Given the description of an element on the screen output the (x, y) to click on. 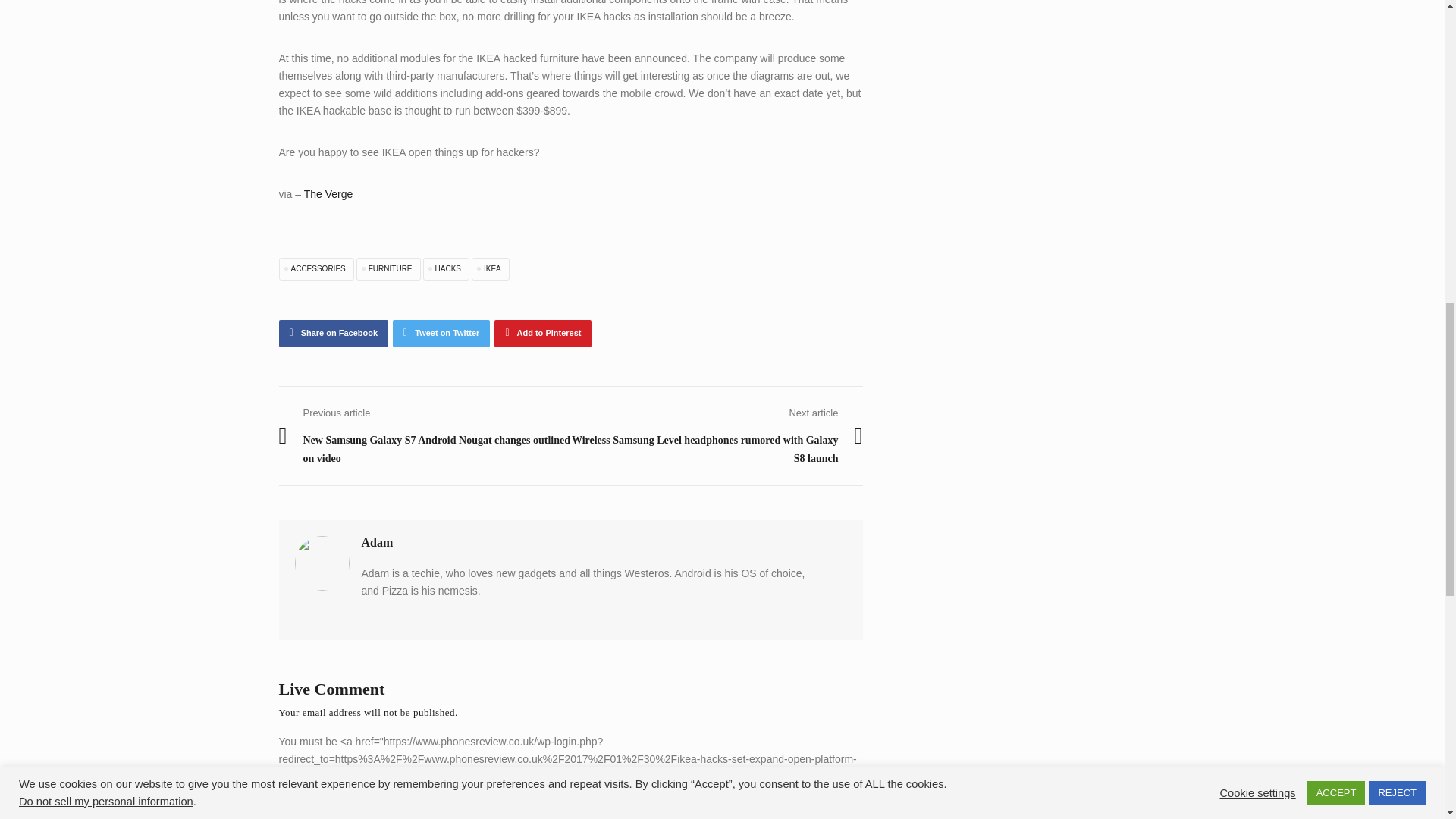
Share on Facebook (333, 333)
HACKS (445, 268)
FURNITURE (388, 268)
The Verge (328, 193)
Add to Pinterest (543, 333)
IKEA (490, 268)
ACCESSORIES (316, 268)
Tweet on Twitter (441, 333)
